Given the description of an element on the screen output the (x, y) to click on. 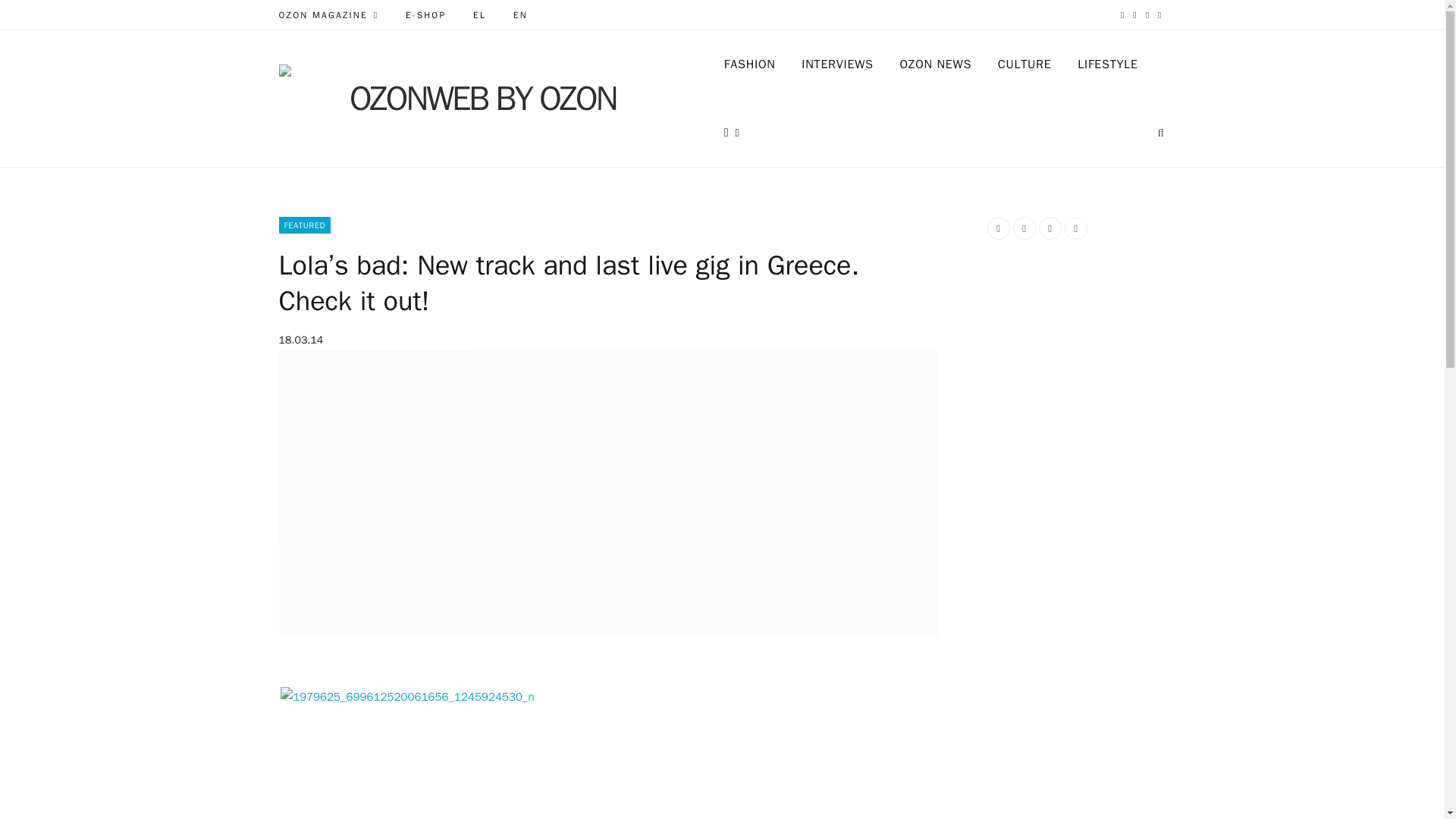
Email (1075, 228)
Share on Twitter (1024, 228)
Facebook (1122, 15)
LIFESTYLE (1107, 64)
EL (479, 15)
E-SHOP (425, 15)
Search (1161, 132)
Twitter (1134, 15)
OZON NEWS (935, 64)
CULTURE (1024, 64)
OZONWeb by OZON Magazine (477, 98)
Share on Facebook (998, 228)
EN (520, 15)
INTERVIEWS (836, 64)
Instagram (1147, 15)
